Given the description of an element on the screen output the (x, y) to click on. 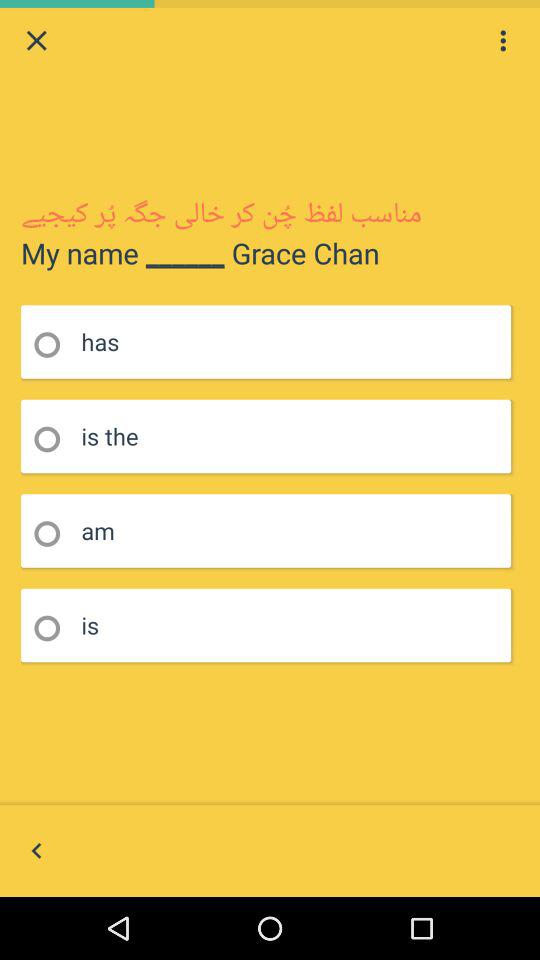
open option menu (503, 40)
